Given the description of an element on the screen output the (x, y) to click on. 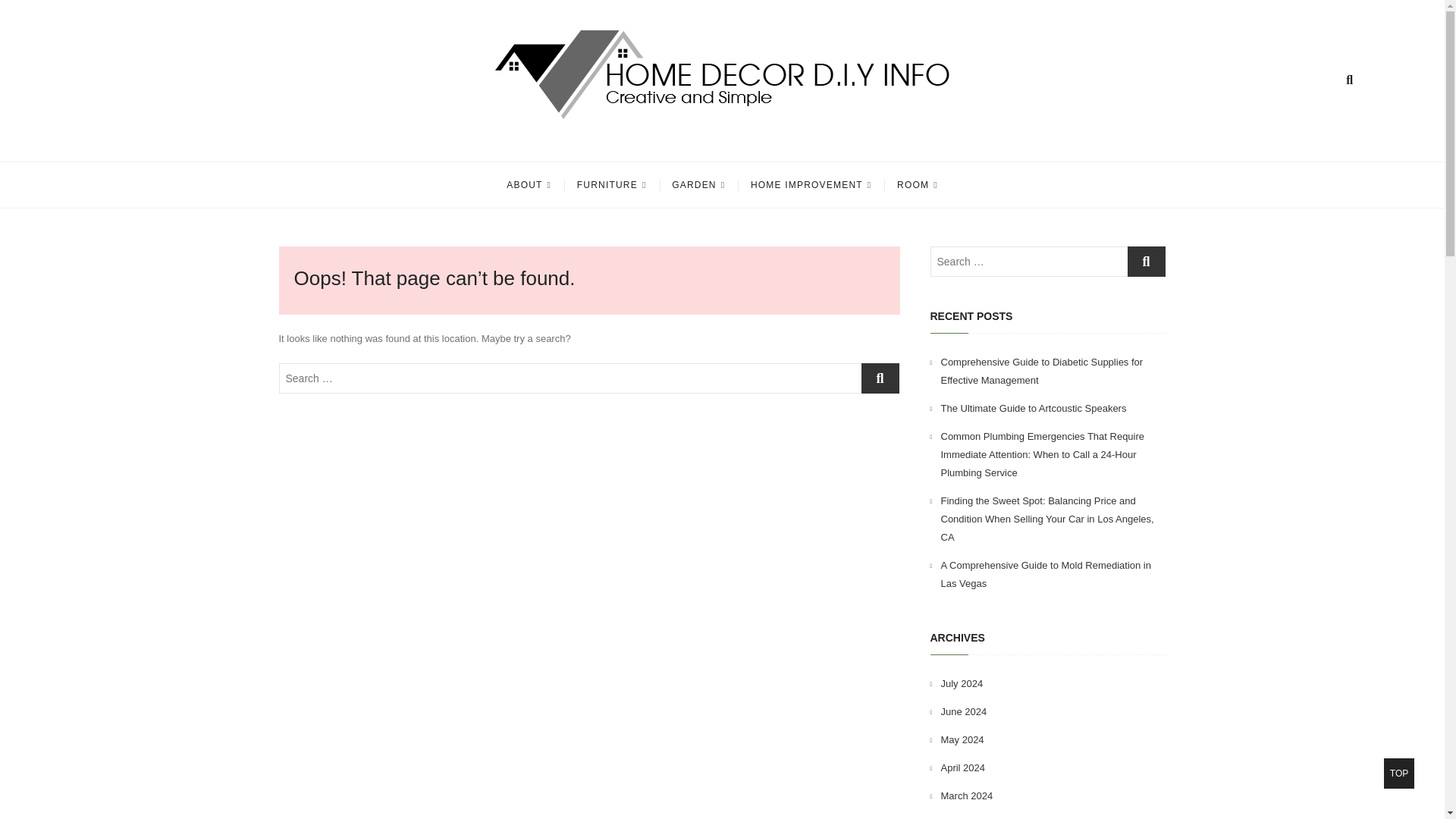
HOME IMPROVEMENT (810, 185)
ABOUT (528, 185)
Home Decor D.I.Y Info (441, 141)
FURNITURE (612, 185)
Home Decor D.I.Y Info (441, 141)
GARDEN (698, 185)
